Given the description of an element on the screen output the (x, y) to click on. 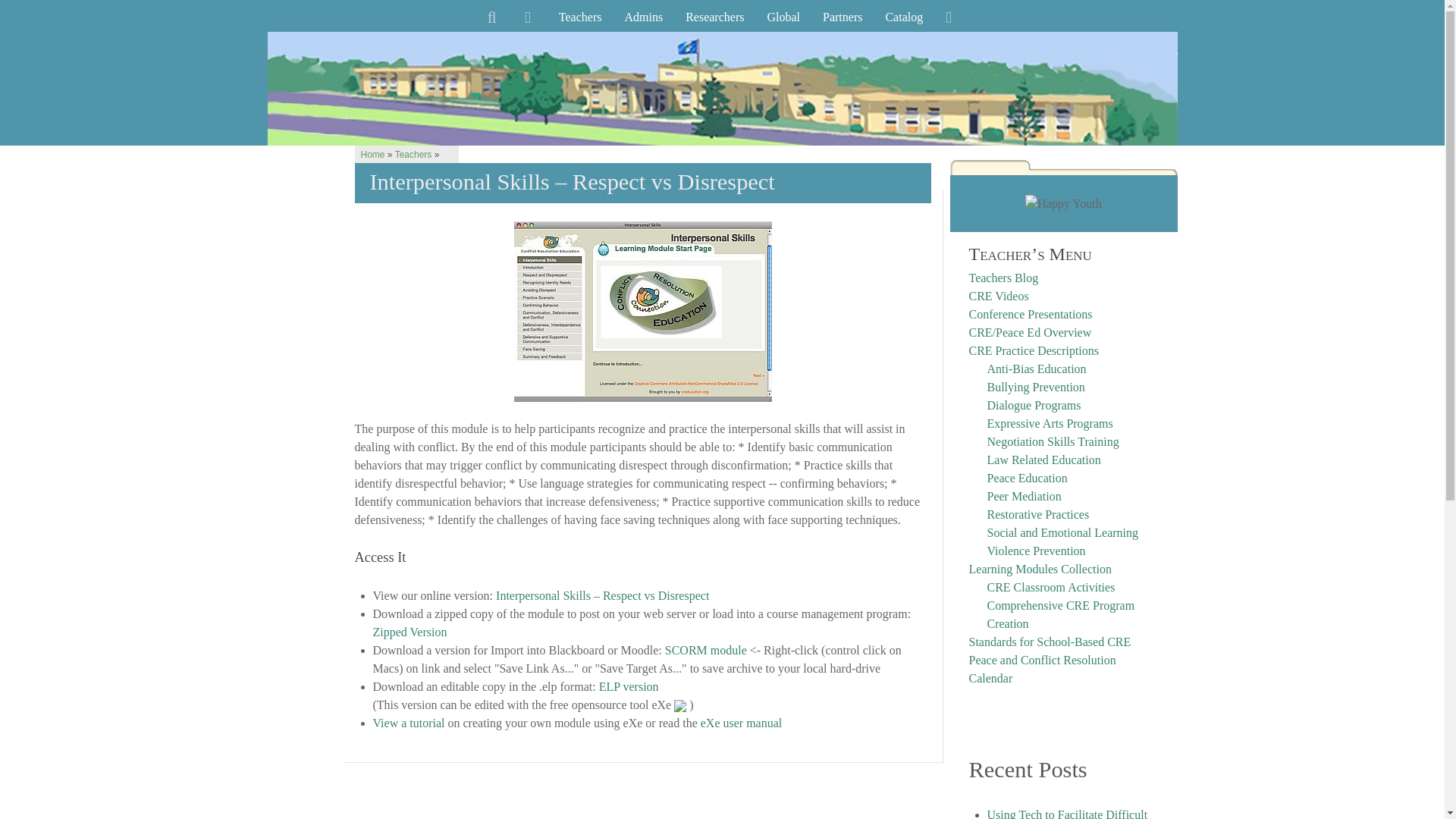
Restorative Practices (1038, 513)
Comprehensive CRE Program Creation (1061, 613)
Researchers (714, 19)
ELP version (628, 686)
Teachers (413, 154)
Home (373, 154)
Partners (841, 19)
CRE Videos (999, 295)
Social and Emotional Learning (1062, 532)
Peer Mediation (1024, 495)
